Given the description of an element on the screen output the (x, y) to click on. 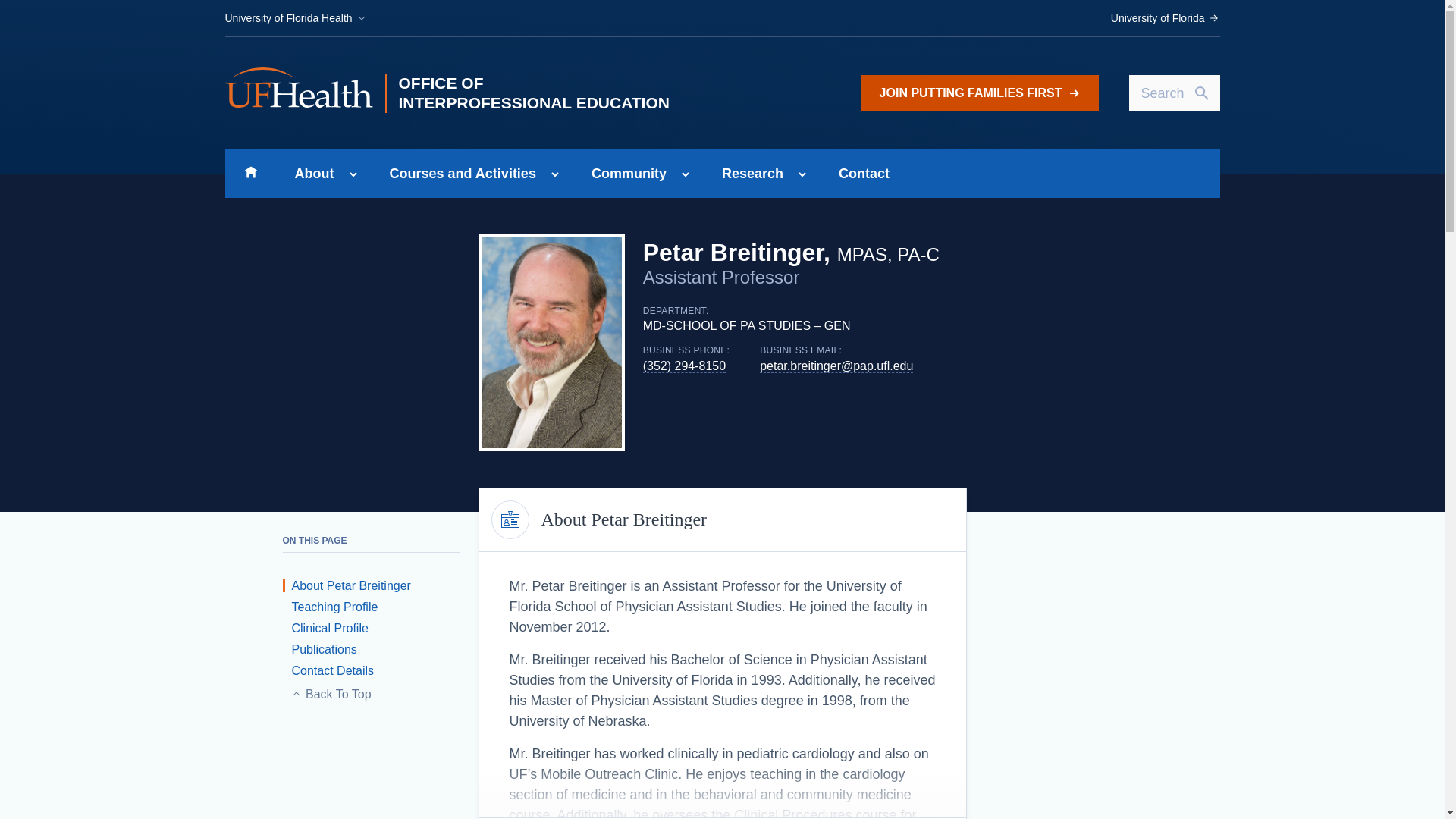
About (309, 173)
Home (250, 173)
Community (624, 173)
University of Florida (1165, 18)
Courses and Activities (457, 173)
University of Florida Health (295, 18)
JOIN PUTTING FAMILIES FIRST (980, 93)
